Given the description of an element on the screen output the (x, y) to click on. 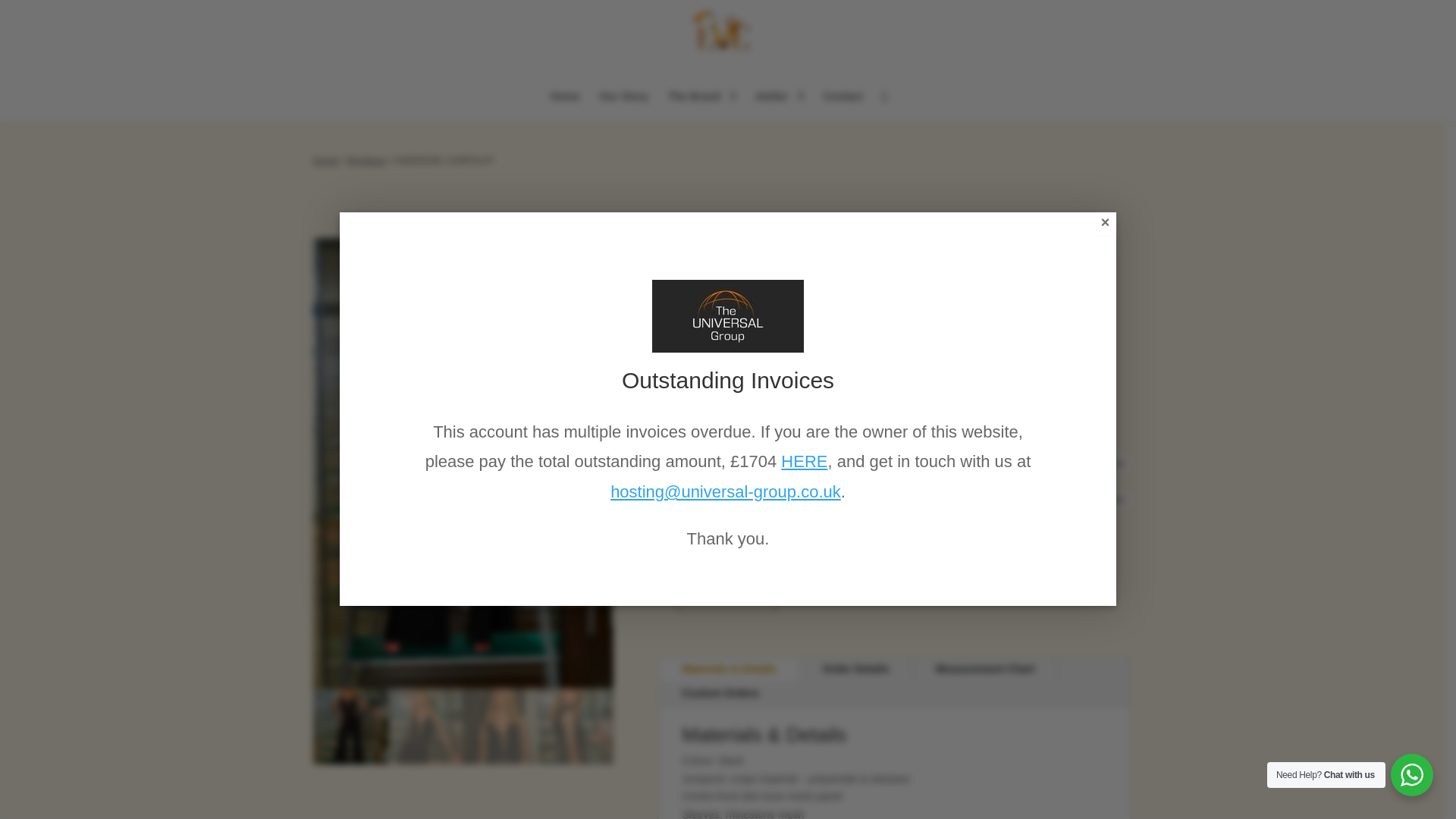
The Brand (701, 106)
Measurement Chart (985, 669)
Mystique (367, 160)
PayPal Message 1 (894, 619)
Contact (843, 106)
Order Details (855, 669)
Atelier (779, 106)
Add to cart (727, 592)
Home (564, 106)
Home (325, 160)
Our Story (622, 106)
Custom Orders (720, 693)
